Given the description of an element on the screen output the (x, y) to click on. 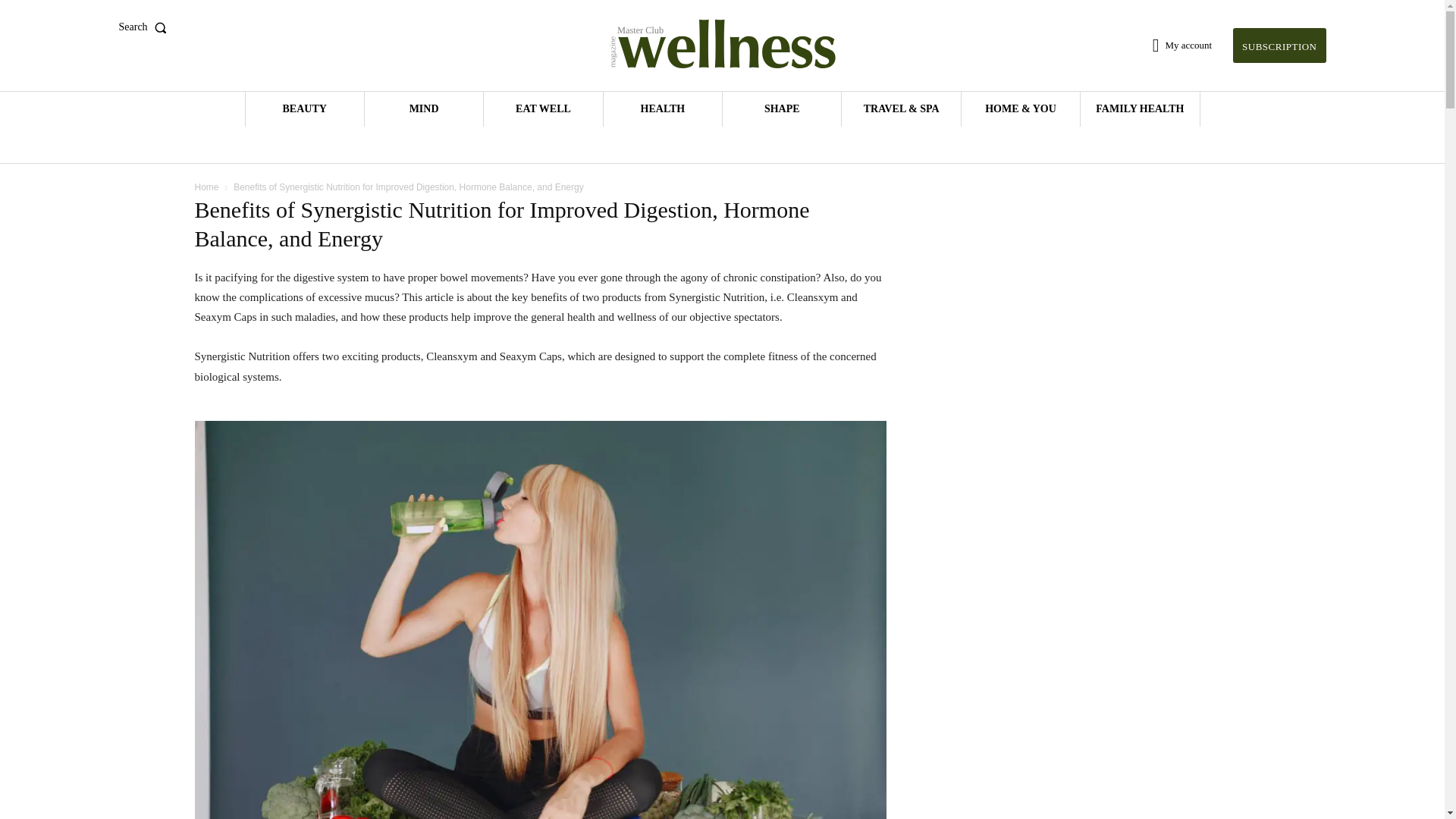
EAT WELL (542, 108)
uroda (305, 108)
Search (145, 27)
SUBSCRIPTION (1278, 45)
SHAPE (781, 108)
HEALTH (663, 108)
BEAUTY (305, 108)
FAMILY HEALTH (1139, 108)
Subscription (1278, 45)
Home (205, 186)
MIND (424, 108)
